Given the description of an element on the screen output the (x, y) to click on. 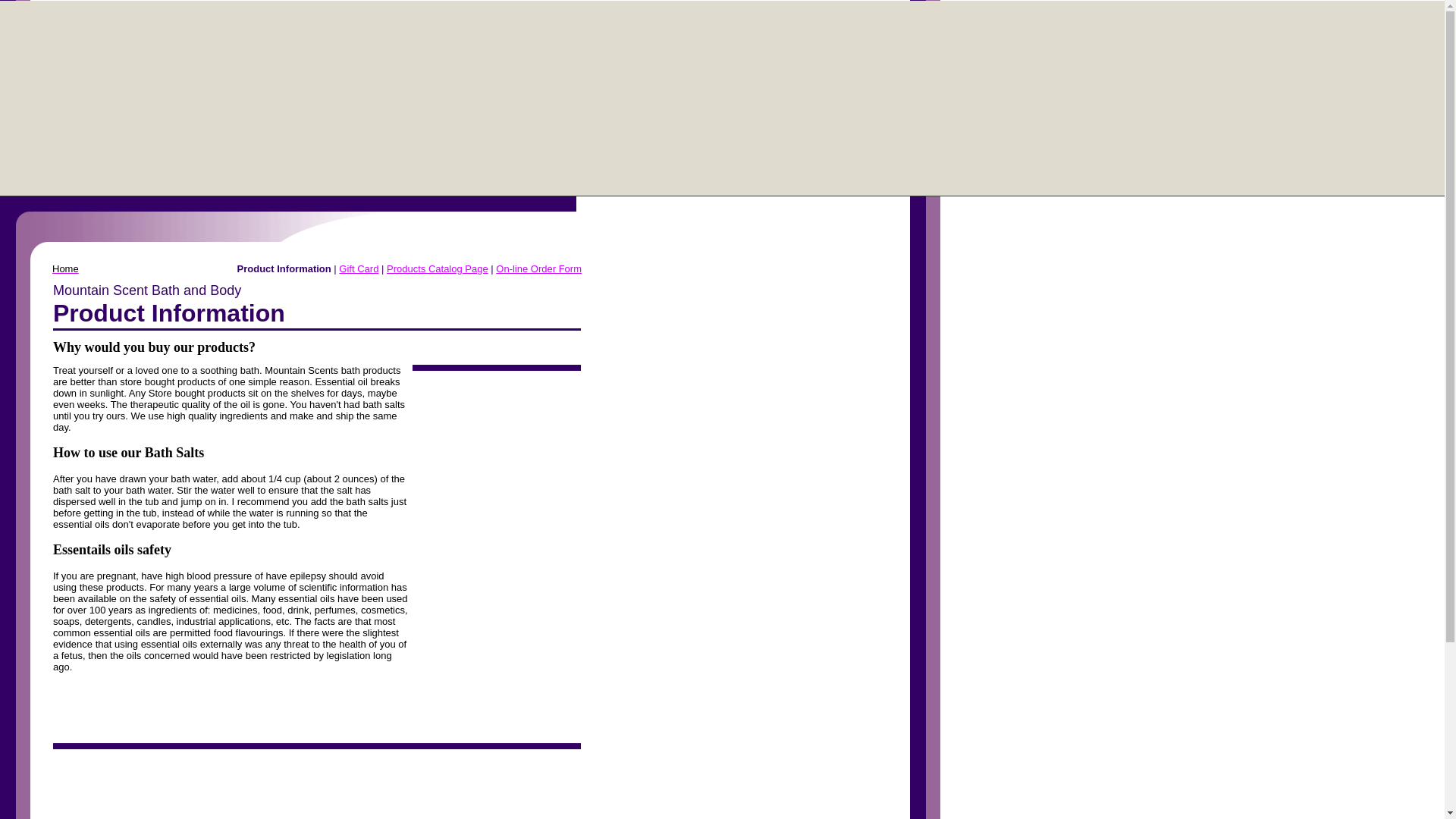
On-line Order Form (538, 268)
Gift Card (358, 268)
Products Catalog Page (437, 268)
Home (65, 267)
